Given the description of an element on the screen output the (x, y) to click on. 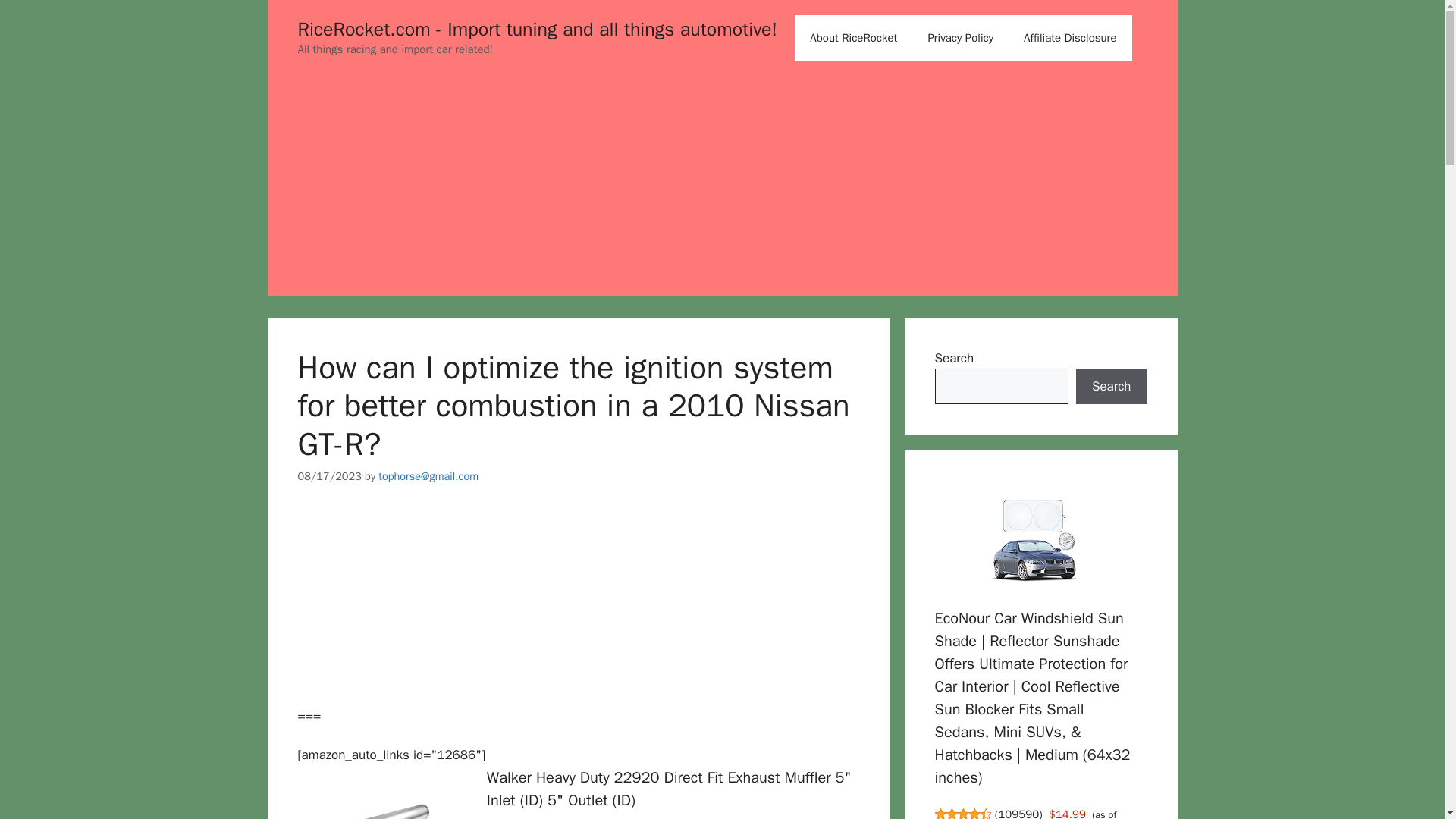
Affiliate Disclosure (1070, 37)
Walker Heavy Duty 22920 Direct Fit Exhaust Muffler 5 (668, 788)
About RiceRocket (853, 37)
Privacy Policy (960, 37)
RiceRocket.com - Import tuning and all things automotive! (537, 28)
